Given the description of an element on the screen output the (x, y) to click on. 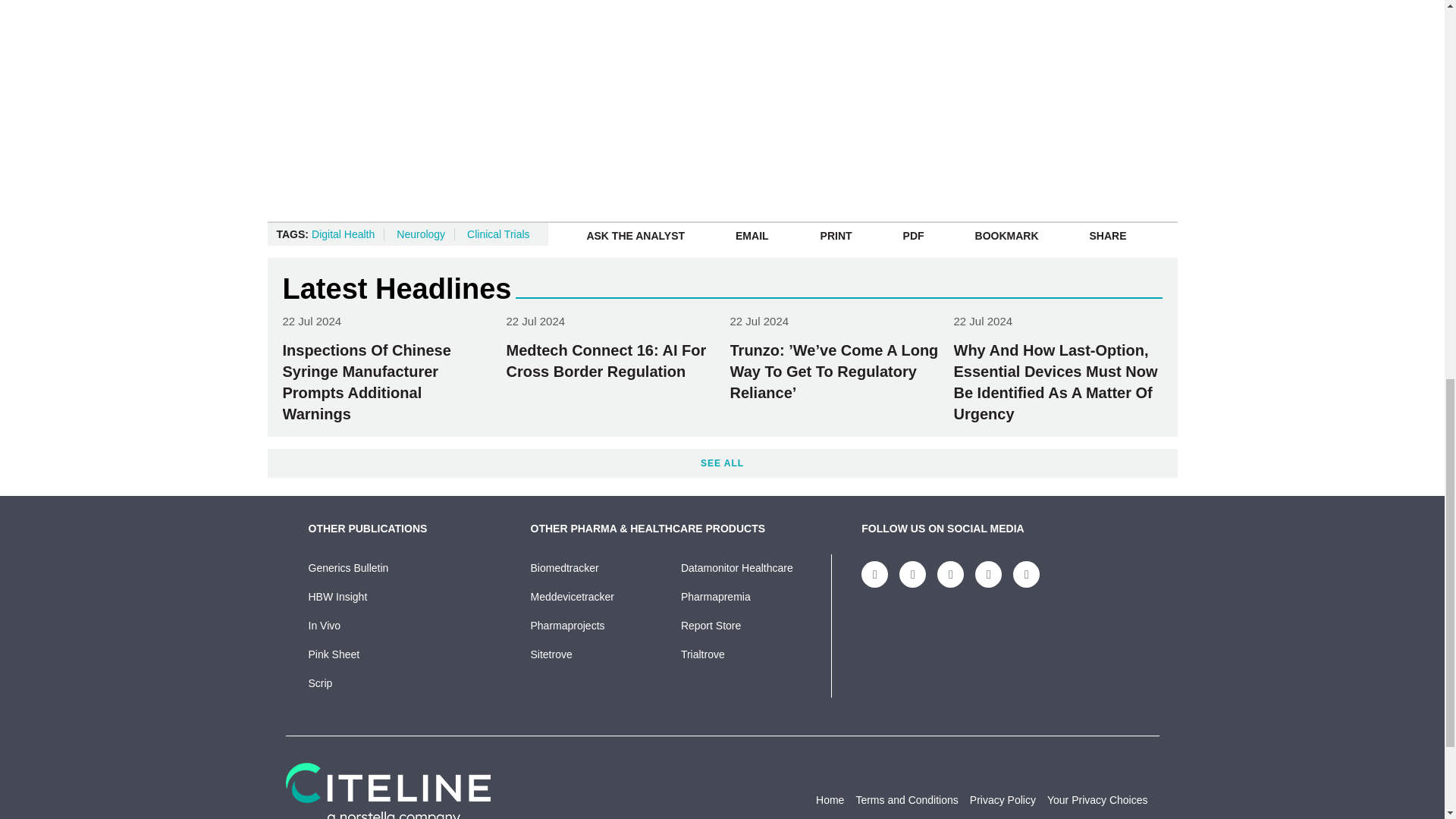
3rd party ad content (1070, 92)
3rd party ad content (567, 25)
